Given the description of an element on the screen output the (x, y) to click on. 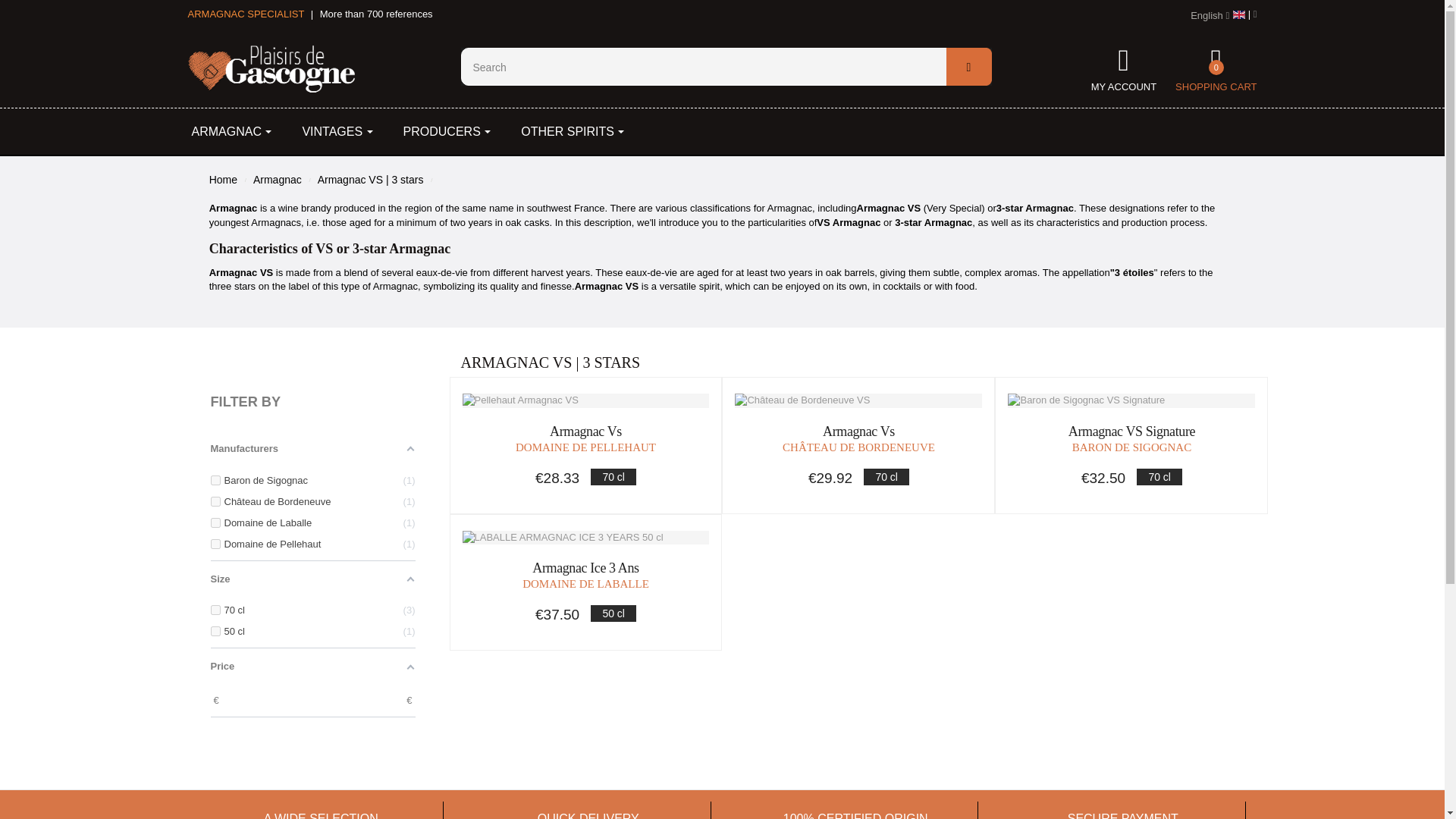
Language (1209, 16)
58 (216, 480)
English (1209, 16)
8 (216, 543)
MY ACCOUNT (1123, 55)
1127 (216, 631)
183 (216, 610)
VINTAGES (336, 131)
67 (216, 501)
44 (216, 522)
ARMAGNAC (231, 131)
